Given the description of an element on the screen output the (x, y) to click on. 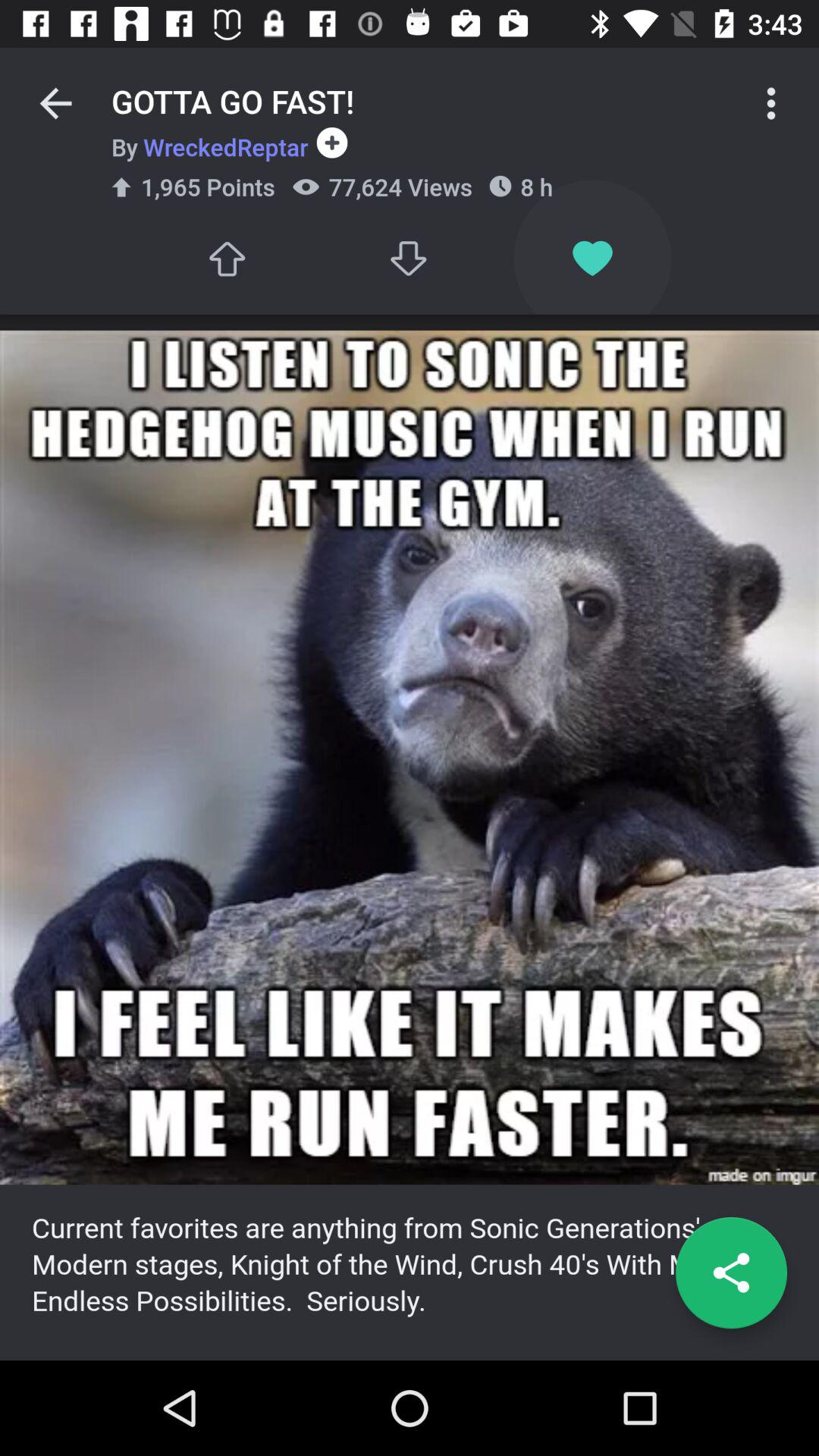
turn on icon above the 1,965 points item (209, 146)
